Given the description of an element on the screen output the (x, y) to click on. 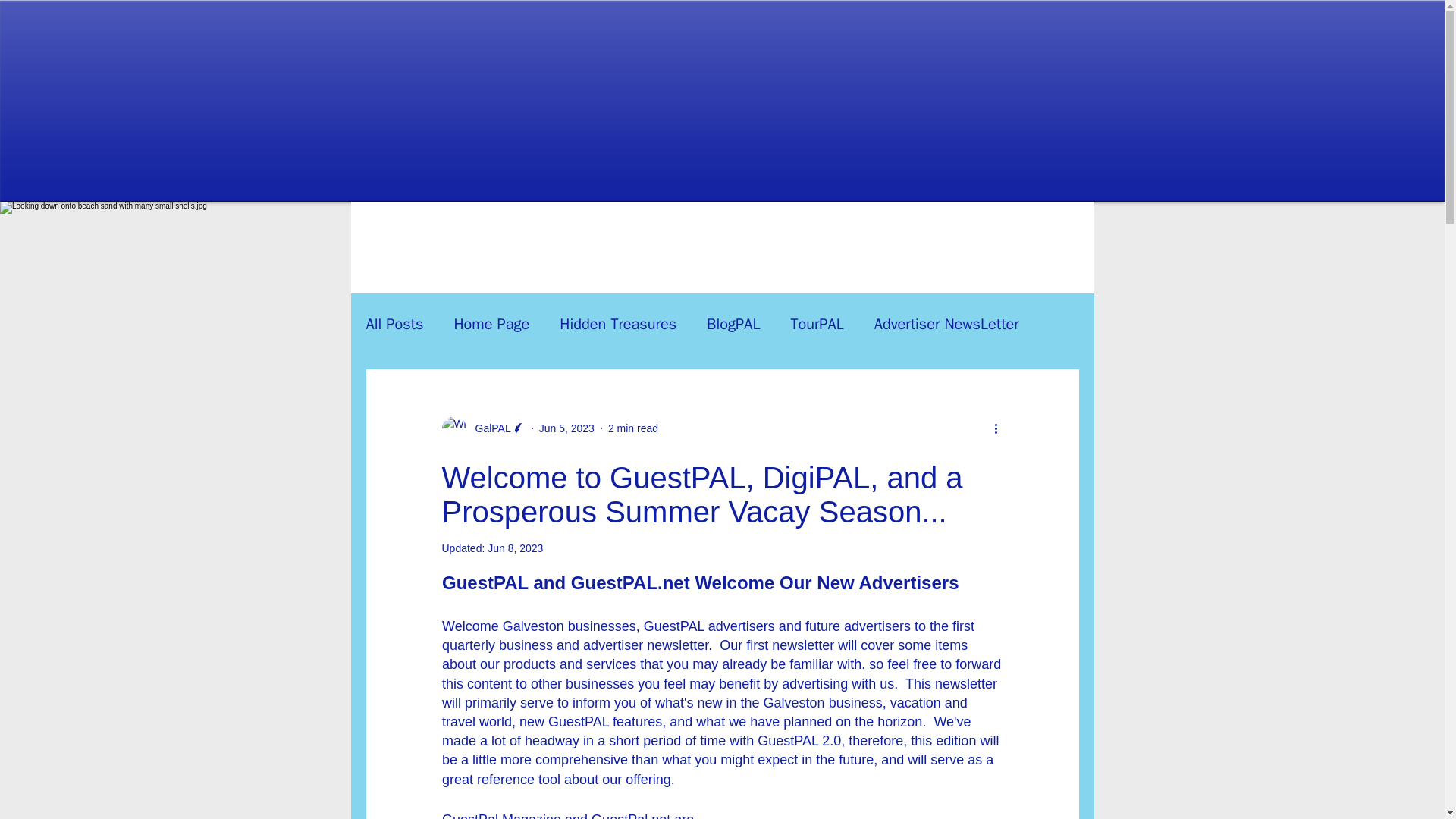
Jun 5, 2023 (566, 427)
GalPAL (488, 427)
2 min read (633, 427)
Jun 8, 2023 (515, 548)
